Given the description of an element on the screen output the (x, y) to click on. 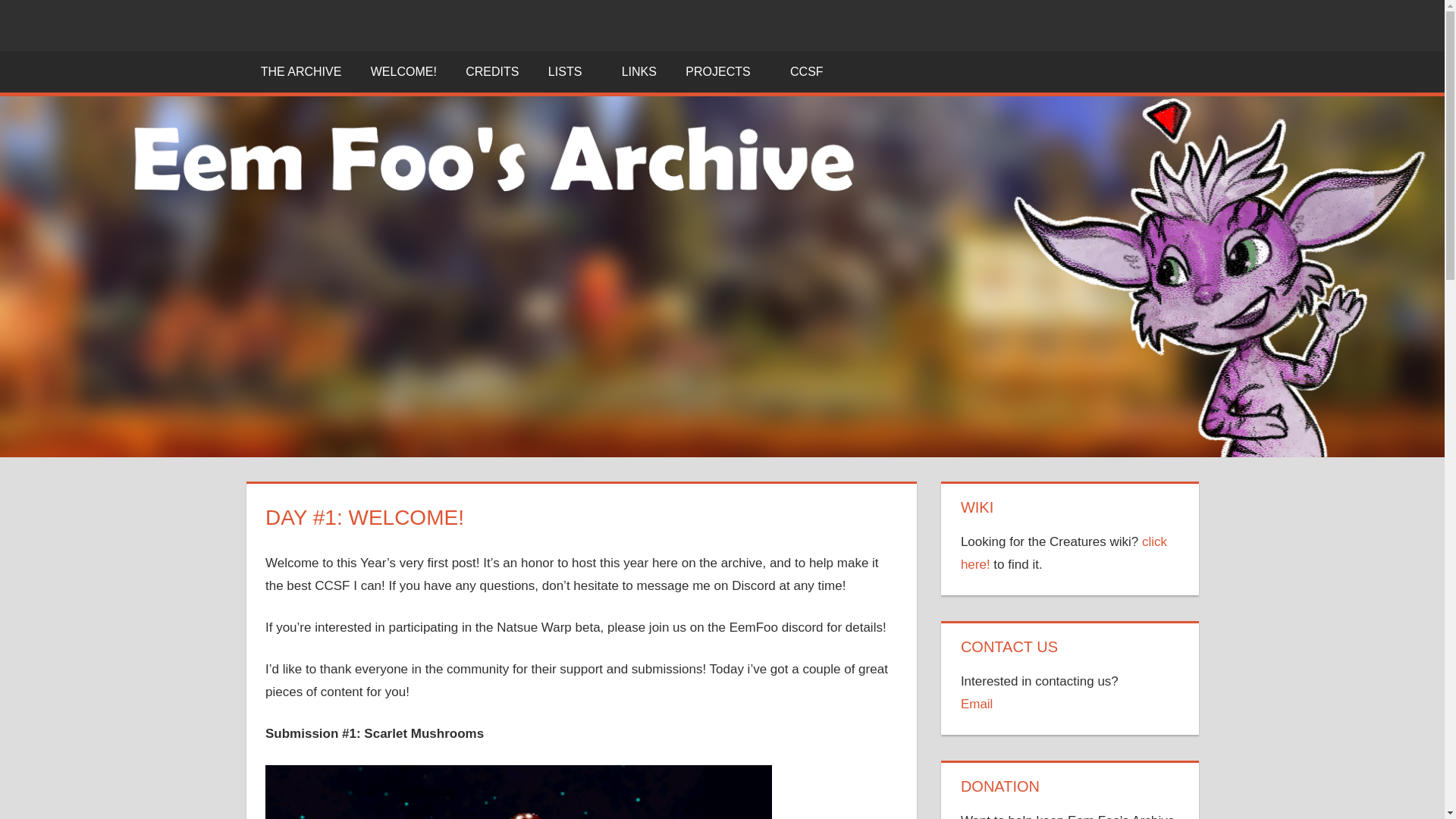
LISTS (570, 71)
LINKS (639, 71)
THE ARCHIVE (300, 71)
WELCOME! (403, 71)
CCSF (812, 71)
CREDITS (492, 71)
PROJECTS (723, 71)
